Given the description of an element on the screen output the (x, y) to click on. 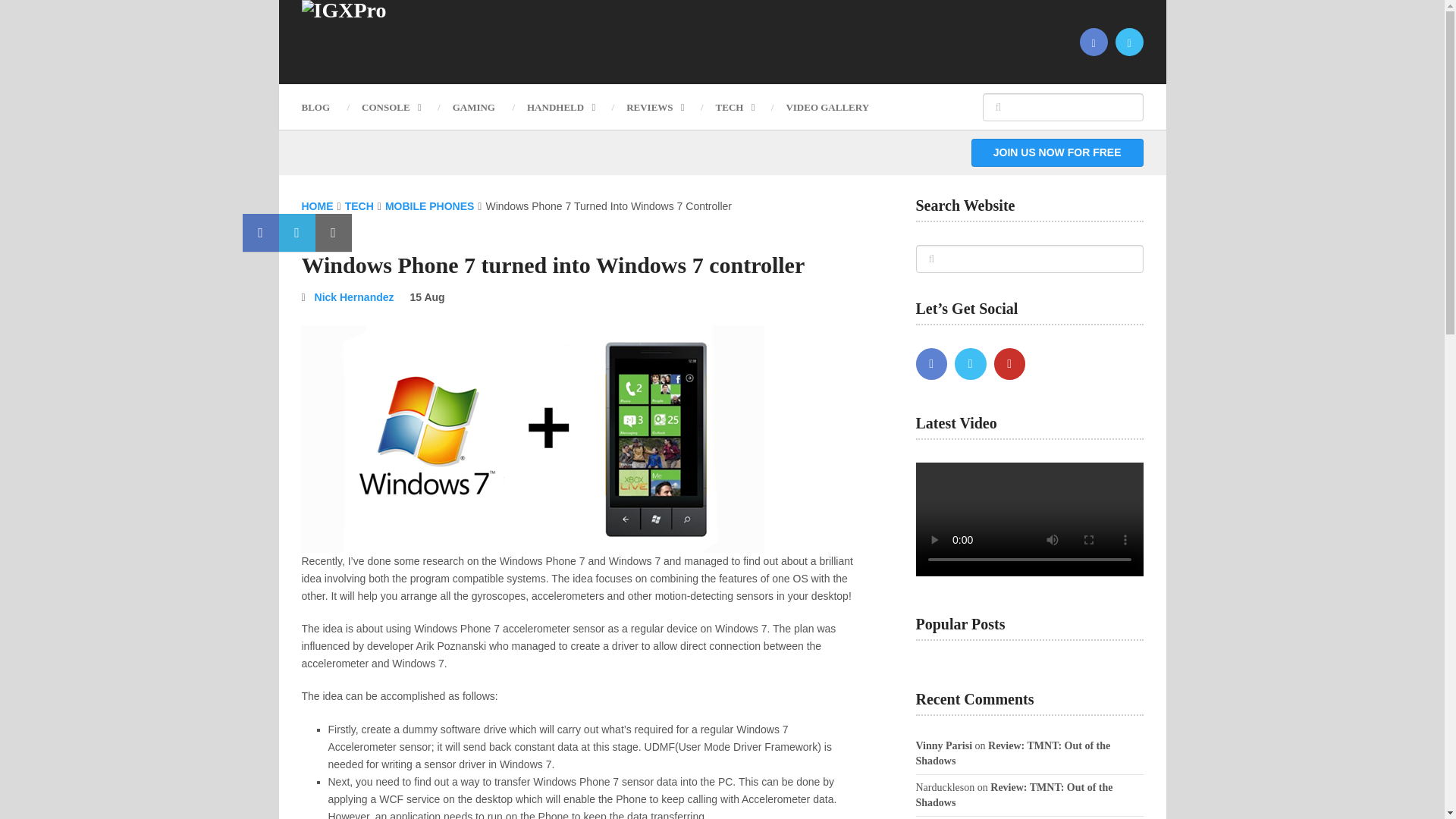
Twitter (971, 364)
MOBILE PHONES (429, 205)
REVIEWS (654, 107)
Facebook (931, 364)
YouTube (1008, 364)
VIDEO GALLERY (827, 107)
Nick Hernandez (354, 297)
GAMING (473, 107)
TECH (359, 205)
BLOG (323, 107)
CONSOLE (391, 107)
JOIN US NOW FOR FREE (1056, 152)
TECH (735, 107)
HANDHELD (560, 107)
Join Us Now For Free (1056, 152)
